Given the description of an element on the screen output the (x, y) to click on. 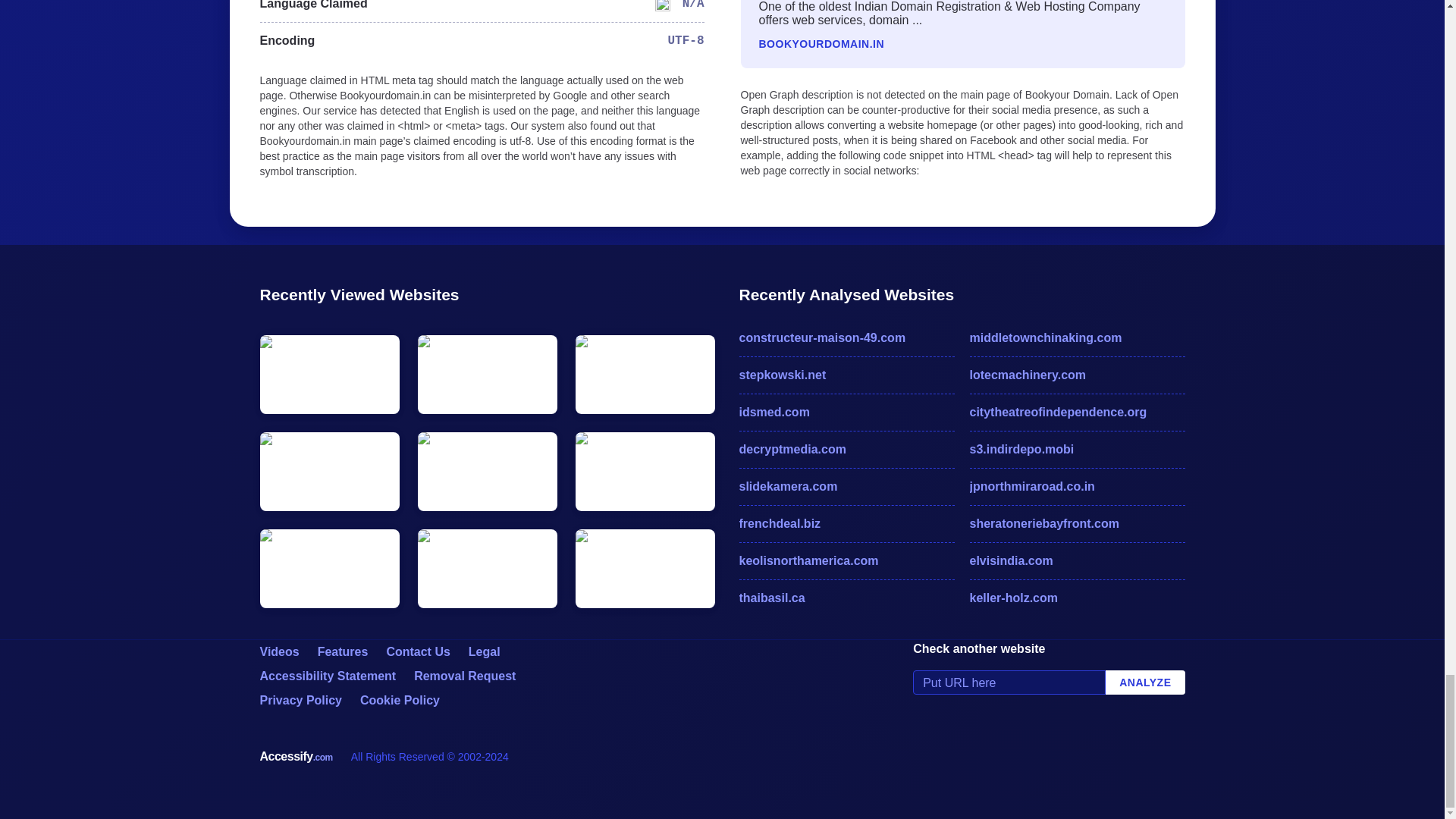
thaibasil.ca (845, 597)
decryptmedia.com (845, 449)
Legal (484, 651)
keolisnorthamerica.com (845, 561)
idsmed.com (845, 412)
Features (342, 651)
lotecmachinery.com (1077, 375)
elvisindia.com (1077, 561)
constructeur-maison-49.com (845, 338)
s3.indirdepo.mobi (1077, 449)
middletownchinaking.com (1077, 338)
keller-holz.com (1077, 597)
Contact Us (417, 651)
citytheatreofindependence.org (1077, 412)
